Given the description of an element on the screen output the (x, y) to click on. 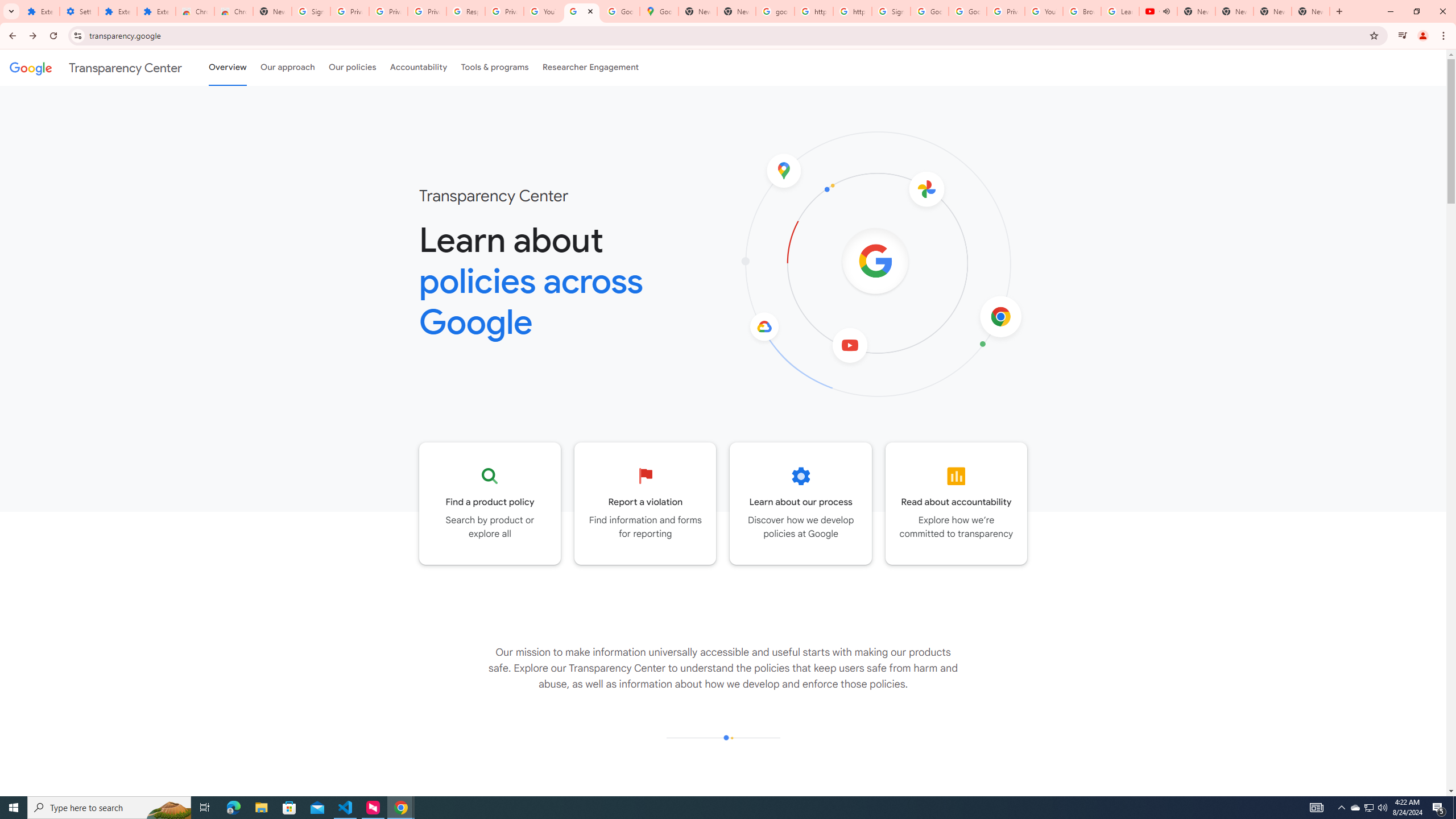
Go to the Accountability page (956, 503)
Sign in - Google Accounts (890, 11)
Researcher Engagement (590, 67)
Go to the Product policy page (490, 503)
Mute tab (1165, 10)
